Given the description of an element on the screen output the (x, y) to click on. 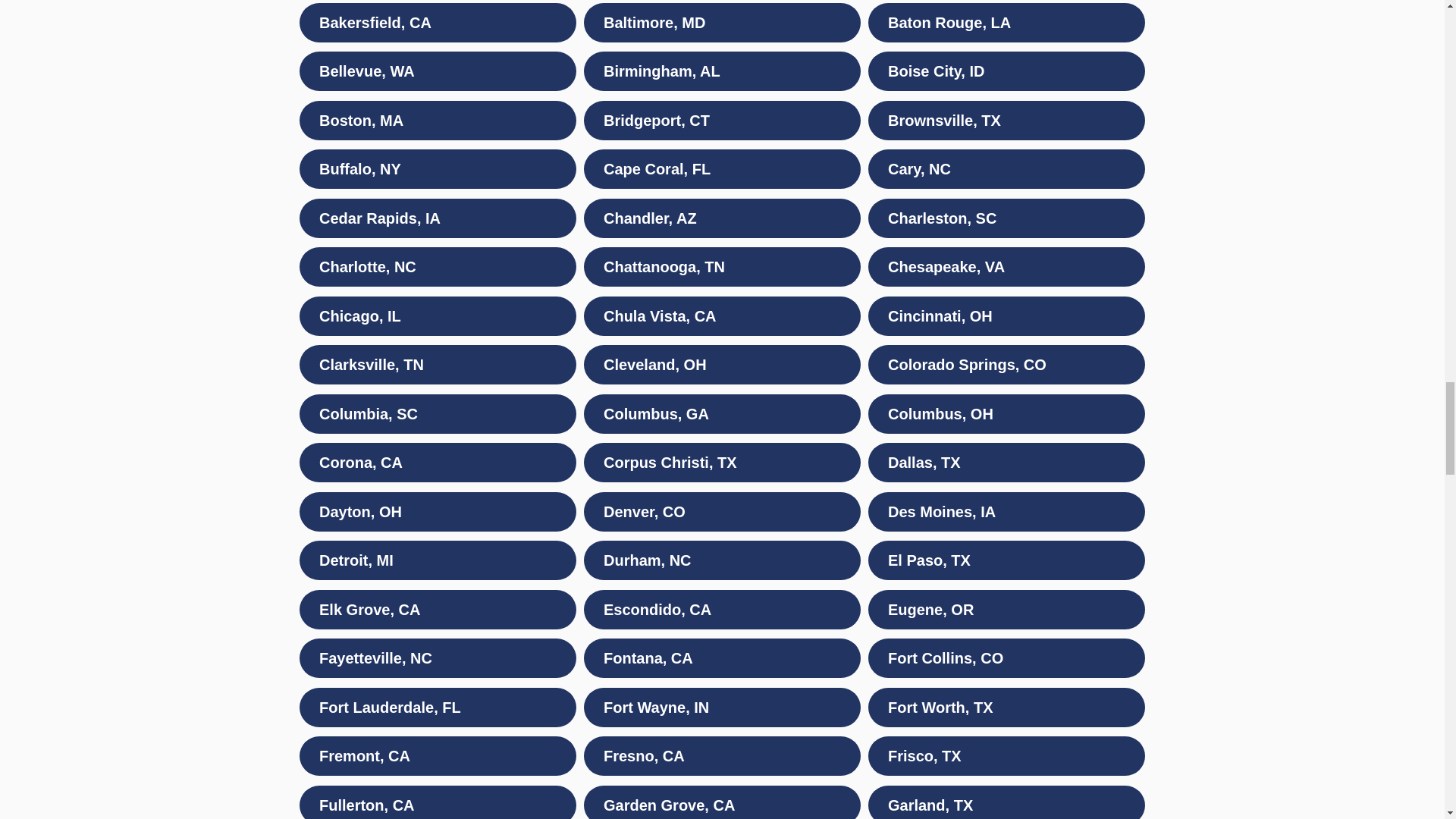
Baltimore, MD (721, 22)
Bellevue, WA (437, 70)
Boise City, ID (1005, 70)
Birmingham, AL (721, 70)
Baton Rouge, LA (1005, 22)
Bakersfield, CA (437, 22)
